Given the description of an element on the screen output the (x, y) to click on. 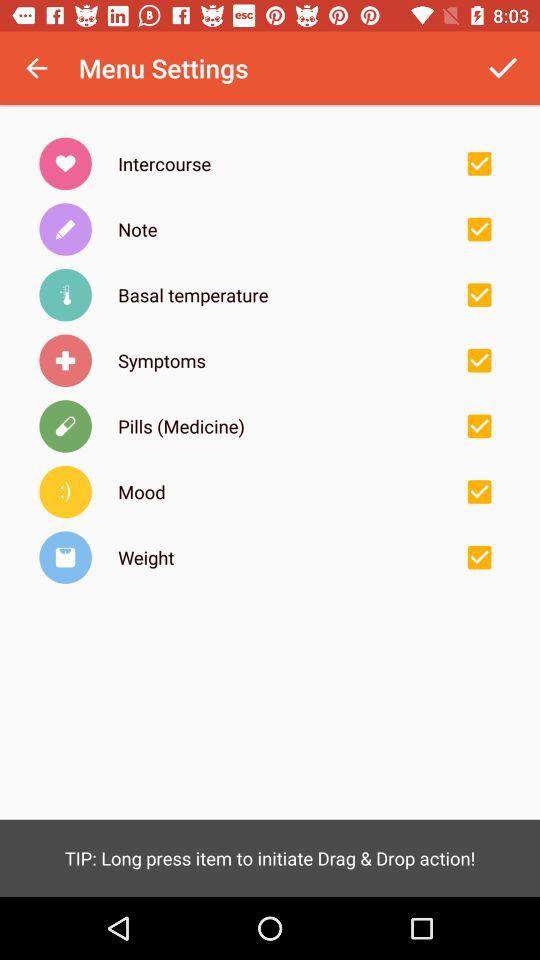
checkbox toggle (479, 557)
